Given the description of an element on the screen output the (x, y) to click on. 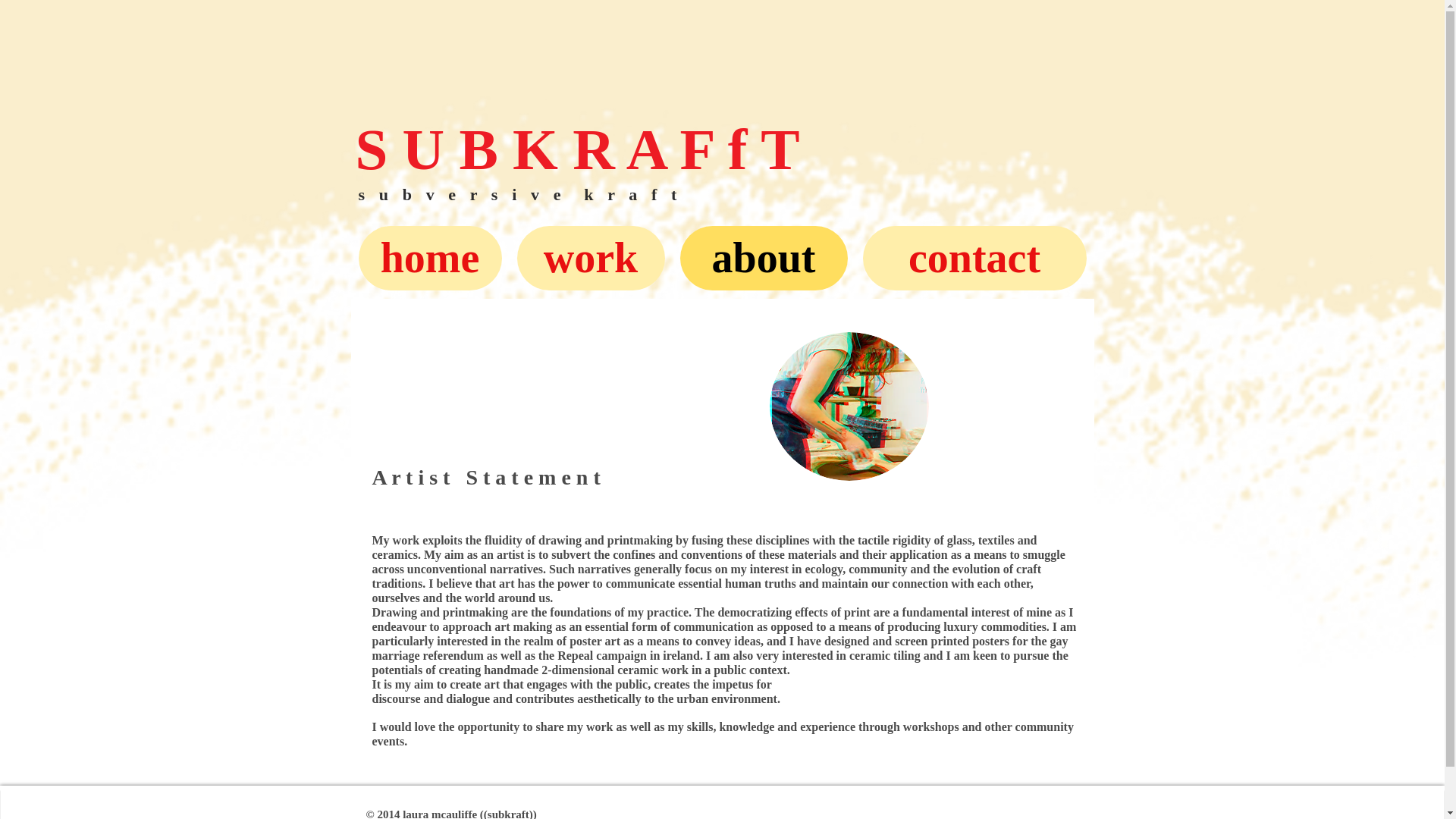
home (429, 258)
contact (974, 258)
about (763, 258)
